Given the description of an element on the screen output the (x, y) to click on. 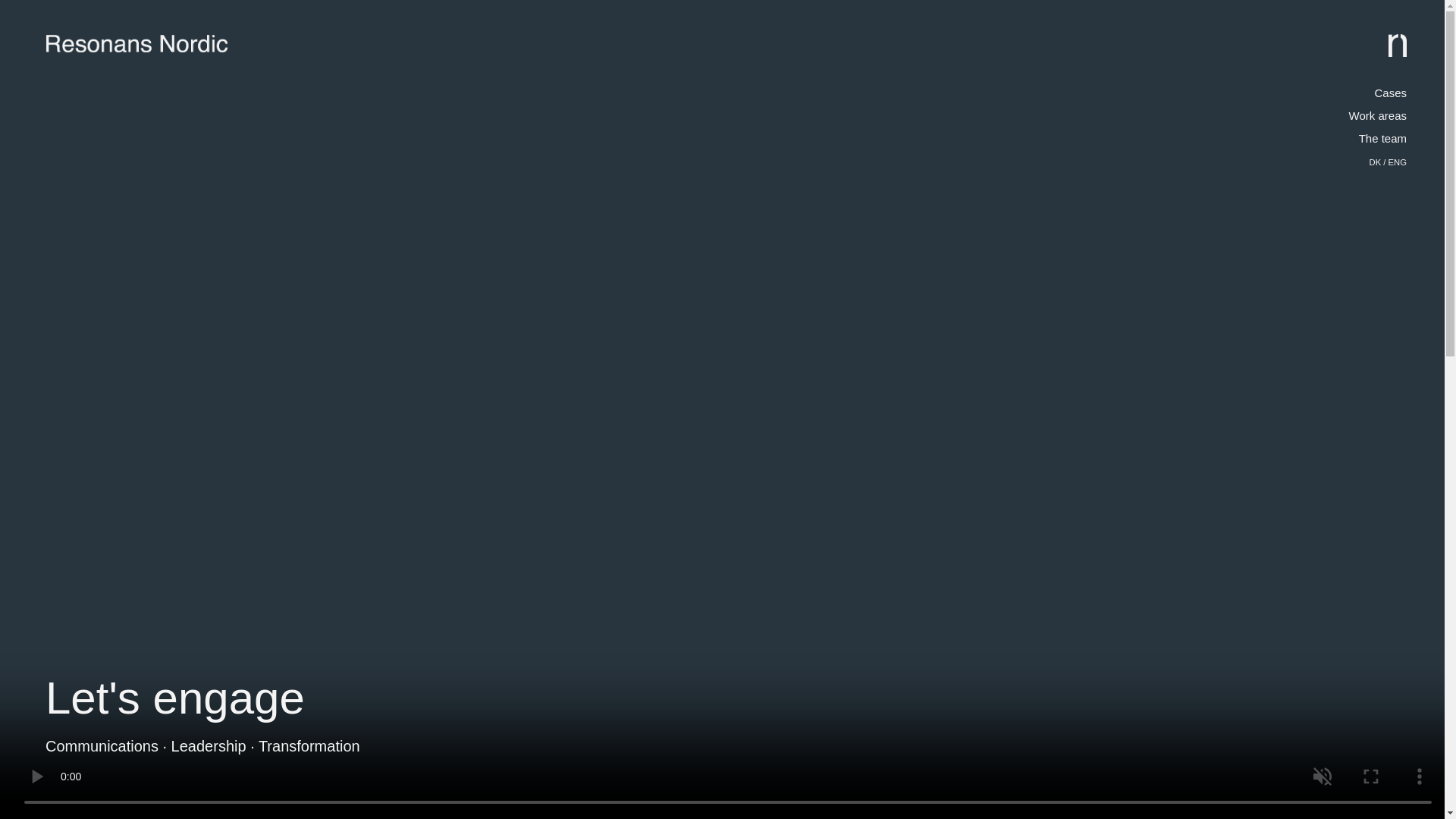
Cases (1390, 92)
Work areas (1377, 115)
The team (1382, 137)
